Given the description of an element on the screen output the (x, y) to click on. 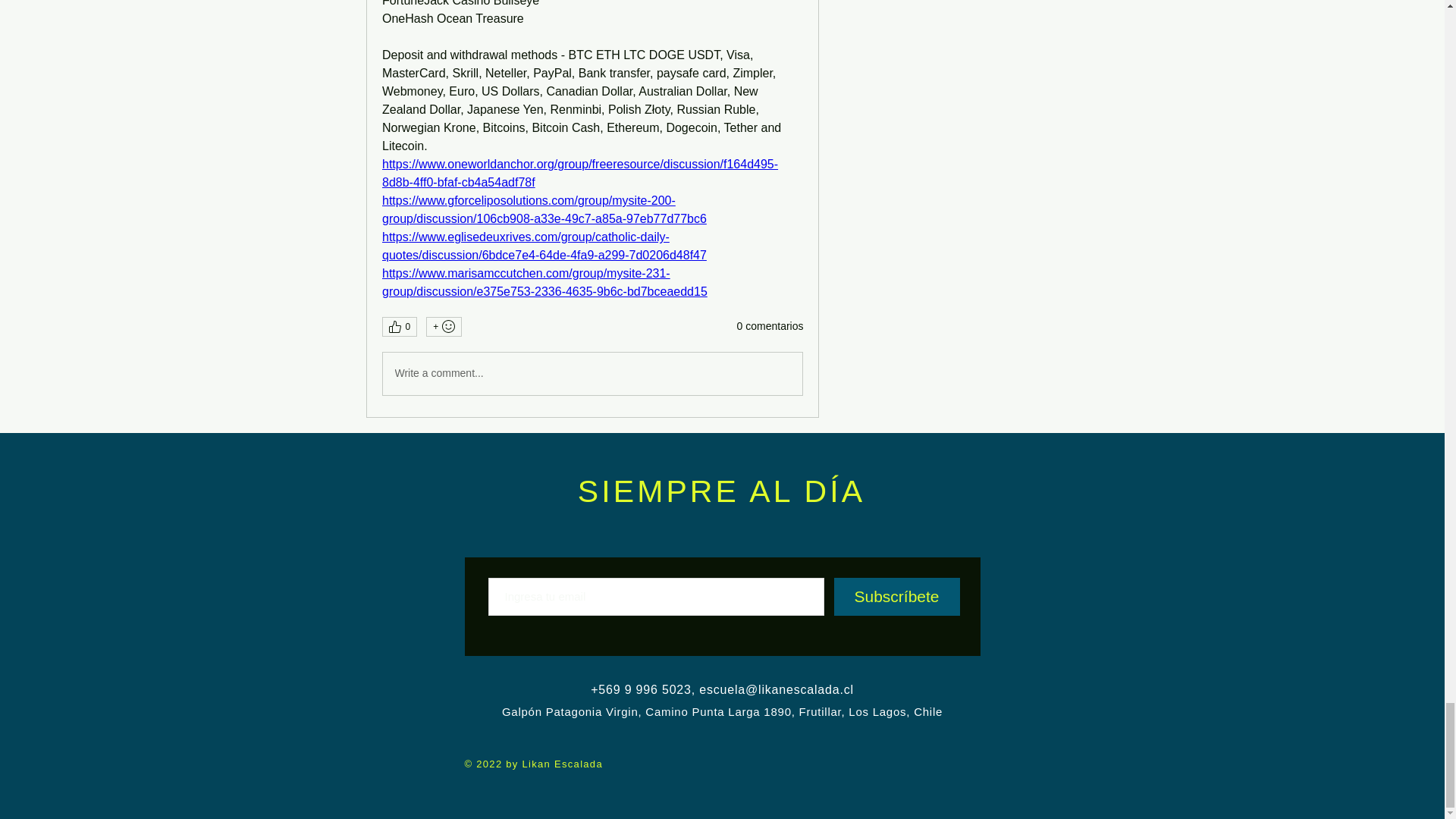
0 comentarios (769, 326)
Write a comment... (591, 373)
